Given the description of an element on the screen output the (x, y) to click on. 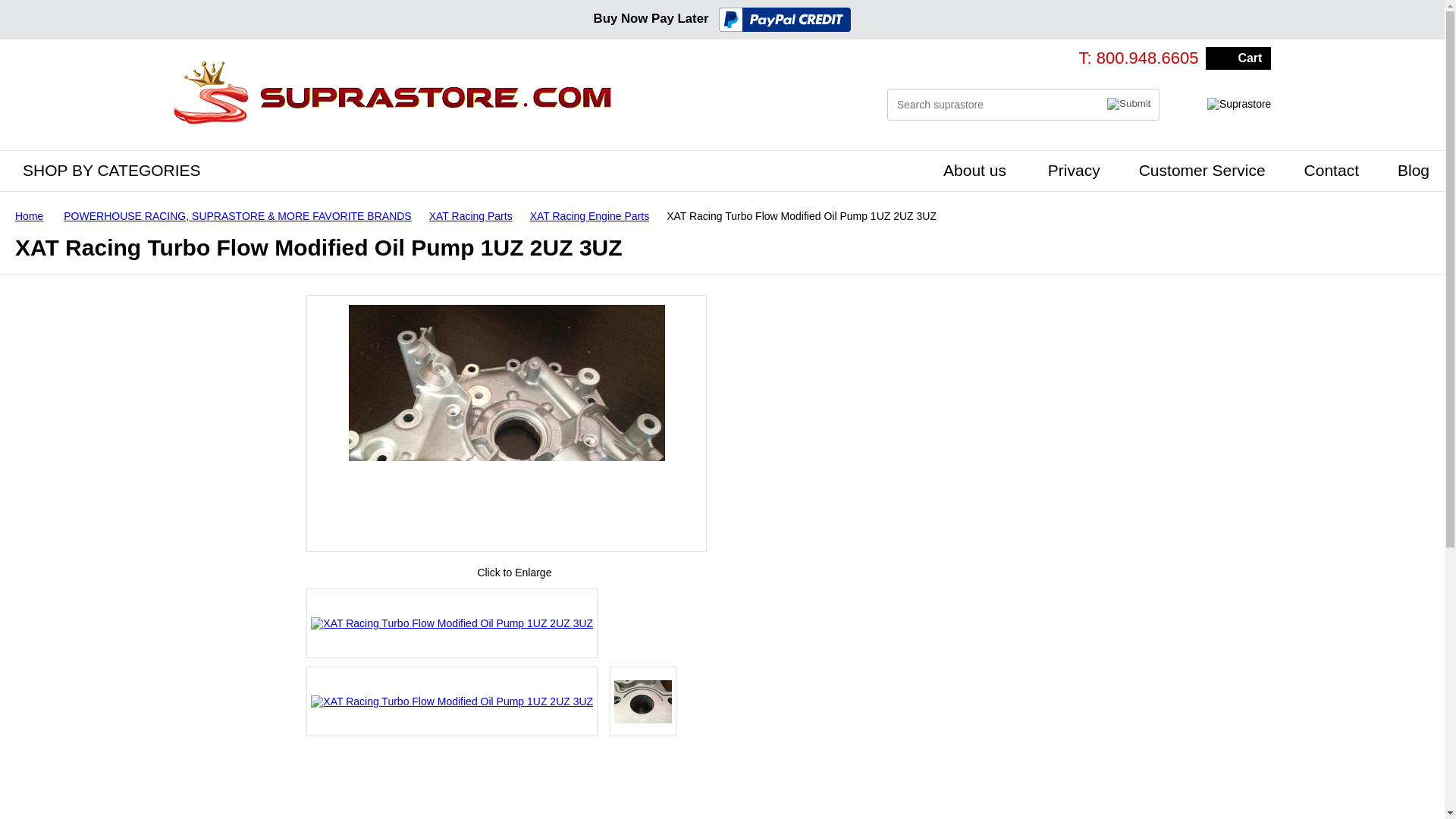
About us (971, 169)
SHOP BY CATEGORIES (107, 169)
Submit (1128, 102)
XAT Racing Parts (476, 215)
Cart (1238, 57)
Contact (1327, 169)
XAT Racing Engine Parts (595, 215)
Home (34, 215)
Home (34, 215)
XAT Racing Turbo Flow Modified Oil Pump 1UZ 2UZ 3UZ (507, 423)
XAT Racing Engine Parts (595, 215)
Privacy (1070, 169)
T: 800.948.6605 (1138, 57)
XAT Racing Parts (476, 215)
Customer Service (1198, 169)
